Given the description of an element on the screen output the (x, y) to click on. 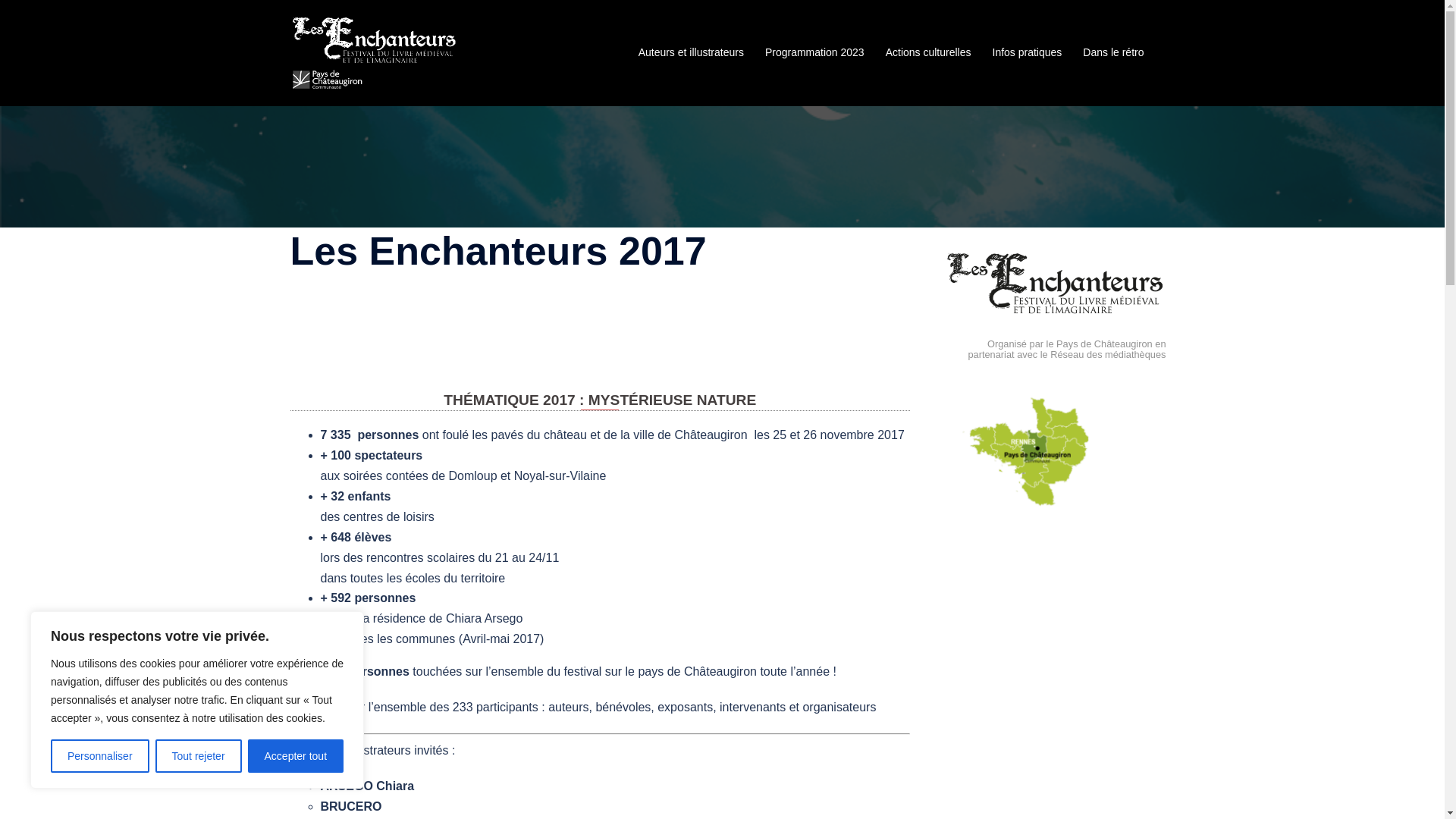
Personnaliser Element type: text (99, 755)
Tout rejeter Element type: text (198, 755)
Actions culturelles Element type: text (928, 52)
Programmation 2023 Element type: text (814, 52)
Les Enchanteurs Element type: hover (373, 51)
Infos pratiques Element type: text (1026, 52)
Auteurs et illustrateurs Element type: text (690, 52)
Accepter tout Element type: text (295, 755)
